Given the description of an element on the screen output the (x, y) to click on. 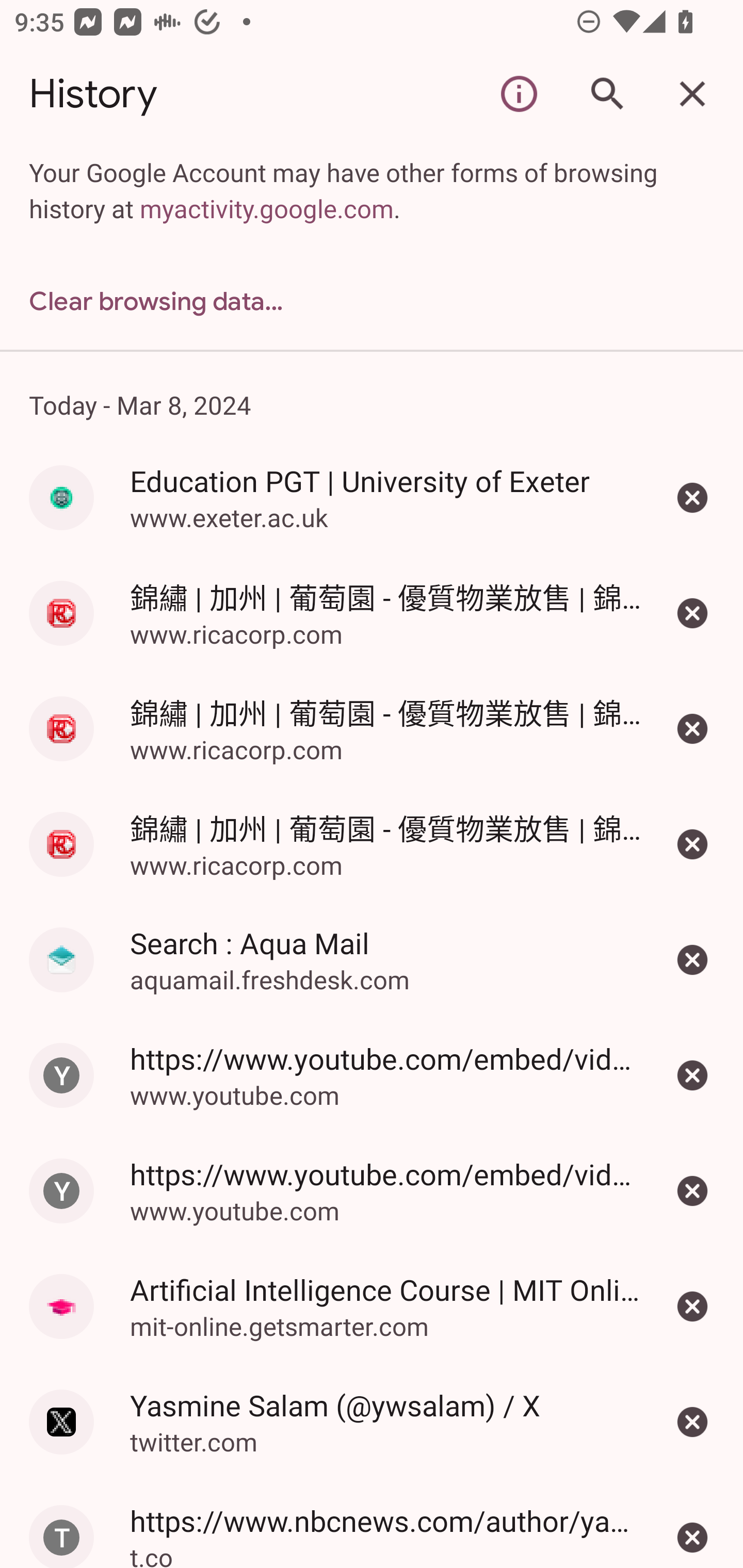
Hide Info (518, 93)
Search (605, 93)
Close (692, 93)
Clear browsing data… (371, 301)
Education PGT | University of Exeter Remove (692, 497)
Search : Aqua Mail Remove (692, 959)
Yasmine Salam (@ywsalam) / X Remove (692, 1422)
